Given the description of an element on the screen output the (x, y) to click on. 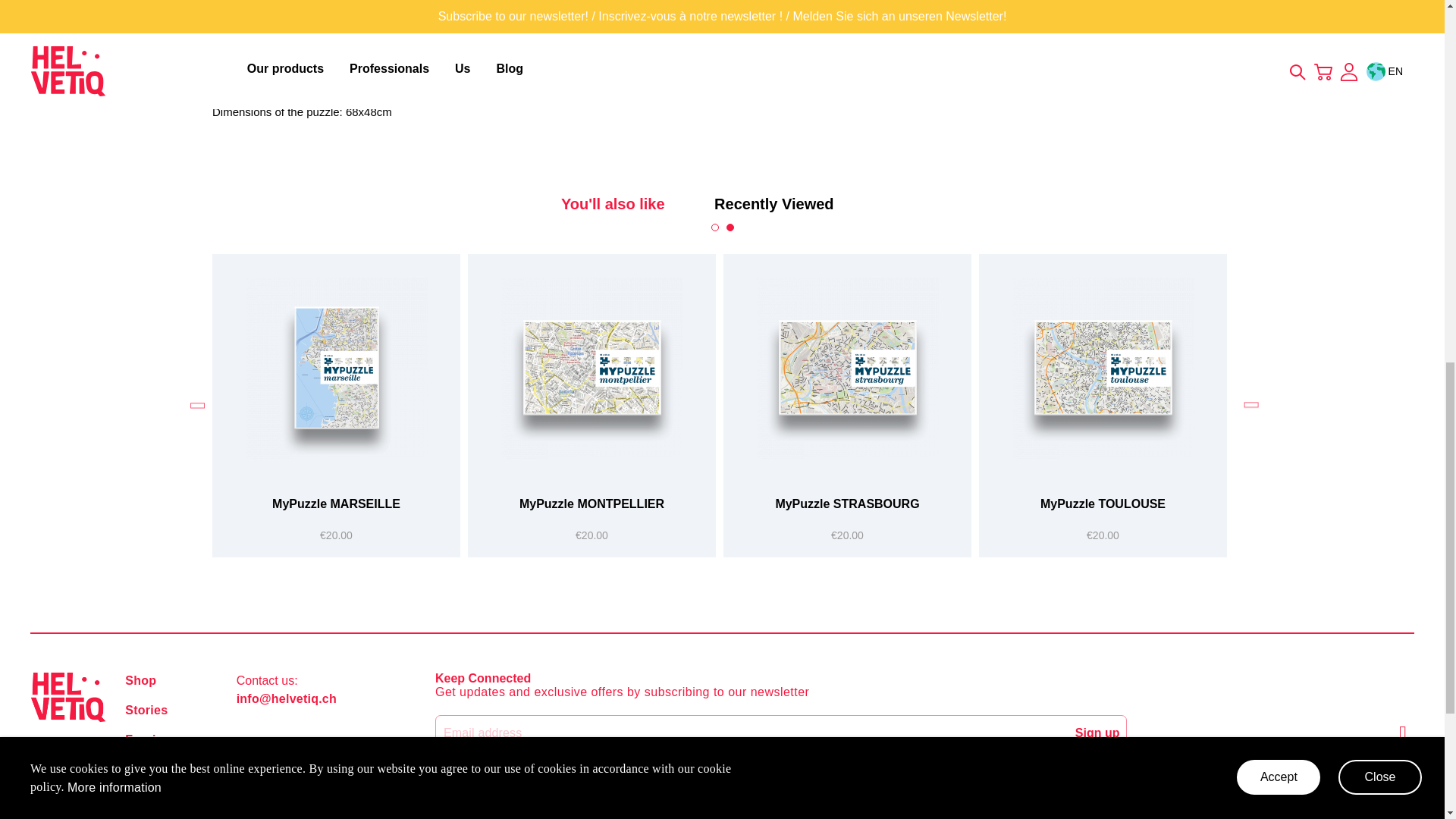
Sign up (1097, 733)
